Given the description of an element on the screen output the (x, y) to click on. 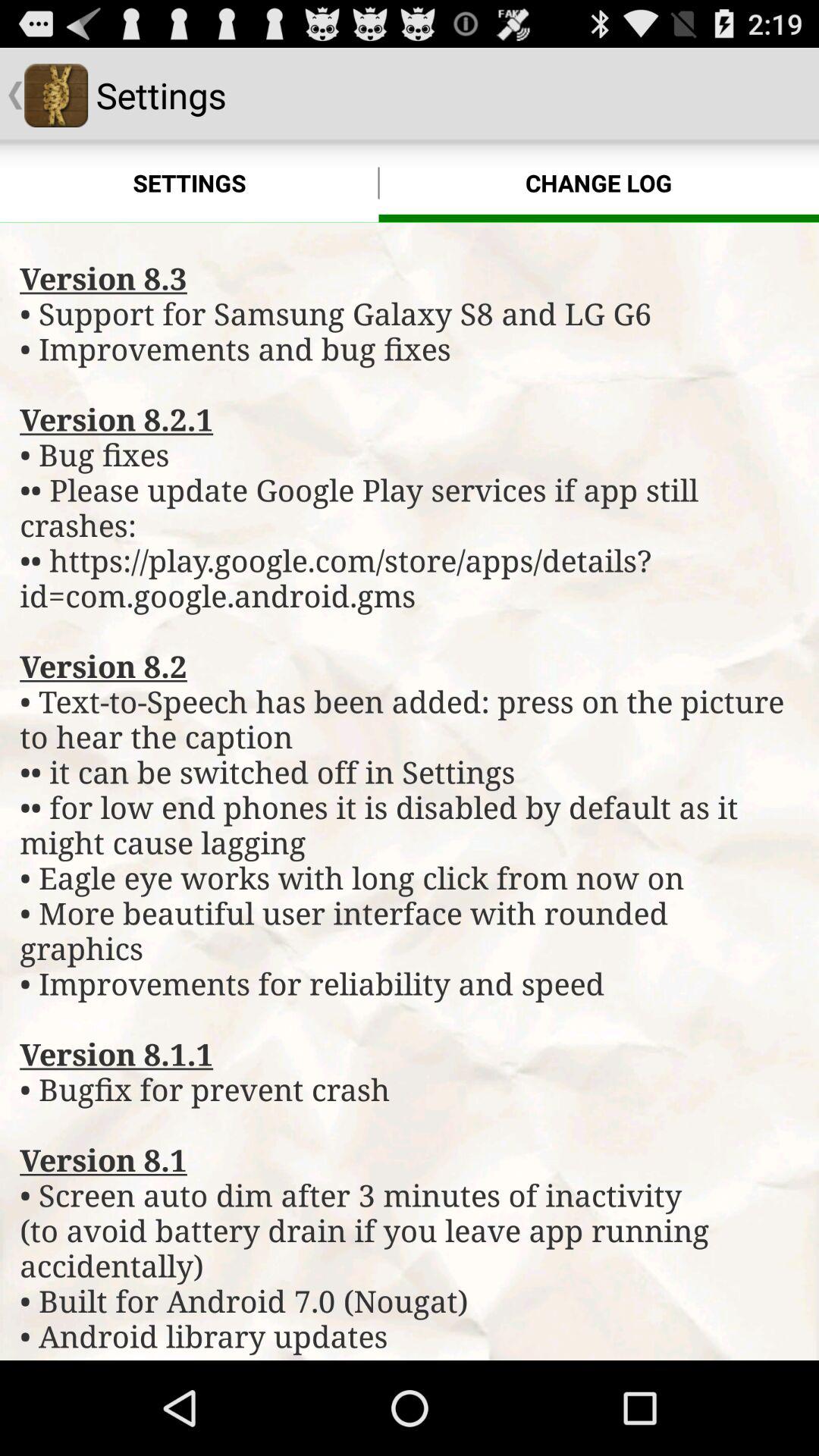
launch icon above the version 8 3 item (598, 182)
